Given the description of an element on the screen output the (x, y) to click on. 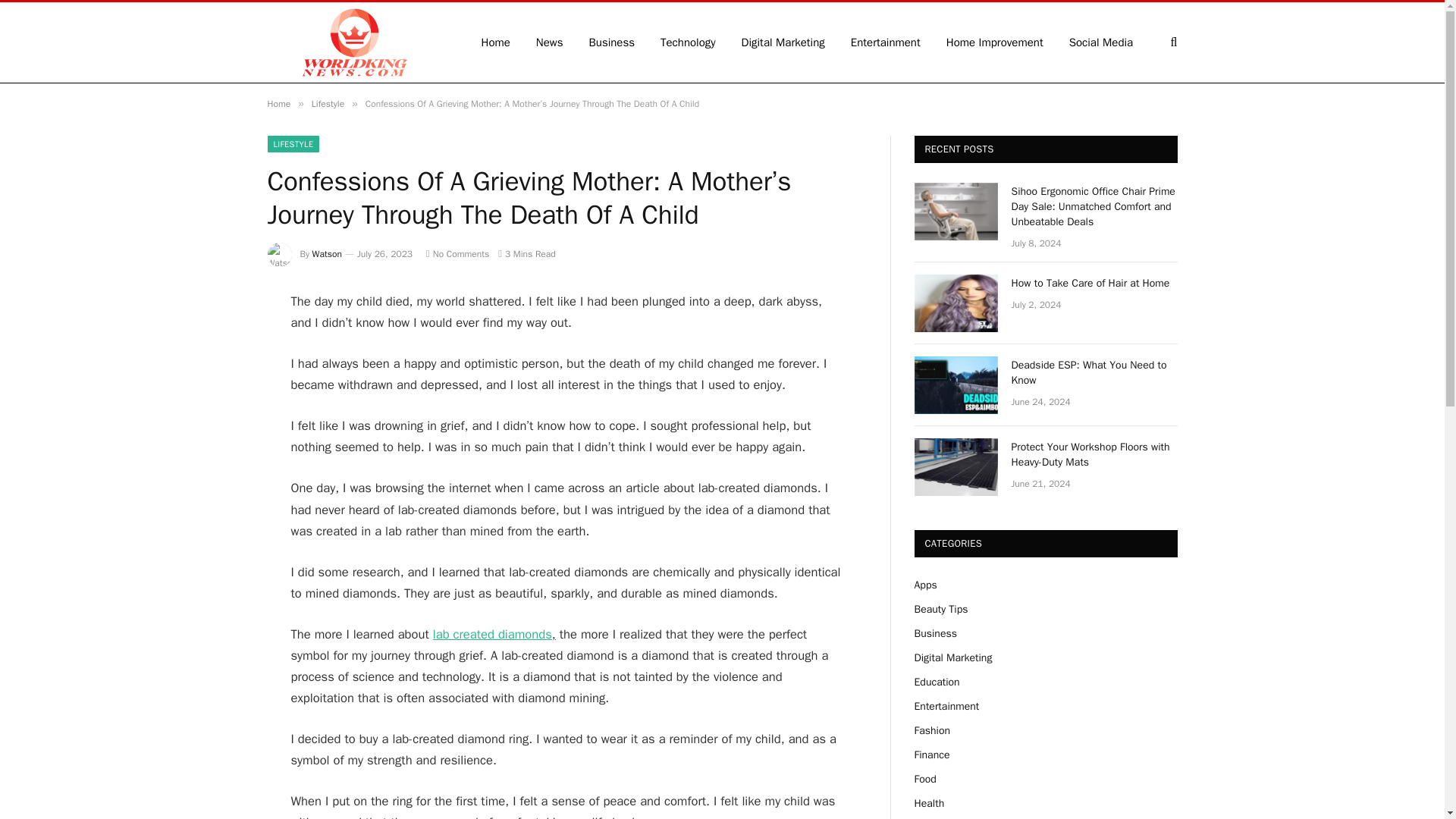
Home (277, 103)
How to Take Care of Hair at Home (955, 303)
Protect Your Workshop Floors with Heavy-Duty Mats (955, 467)
Deadside ESP: What You Need to Know (955, 385)
Business (611, 42)
How to Take Care of Hair at Home (1094, 283)
Protect Your Workshop Floors with Heavy-Duty Mats (1094, 454)
Deadside ESP: What You Need to Know (1094, 372)
Watson (327, 254)
World King News (353, 42)
Social Media (1101, 42)
Beauty Tips (941, 608)
Digital Marketing (783, 42)
Posts by Watson (327, 254)
LIFESTYLE (292, 143)
